Given the description of an element on the screen output the (x, y) to click on. 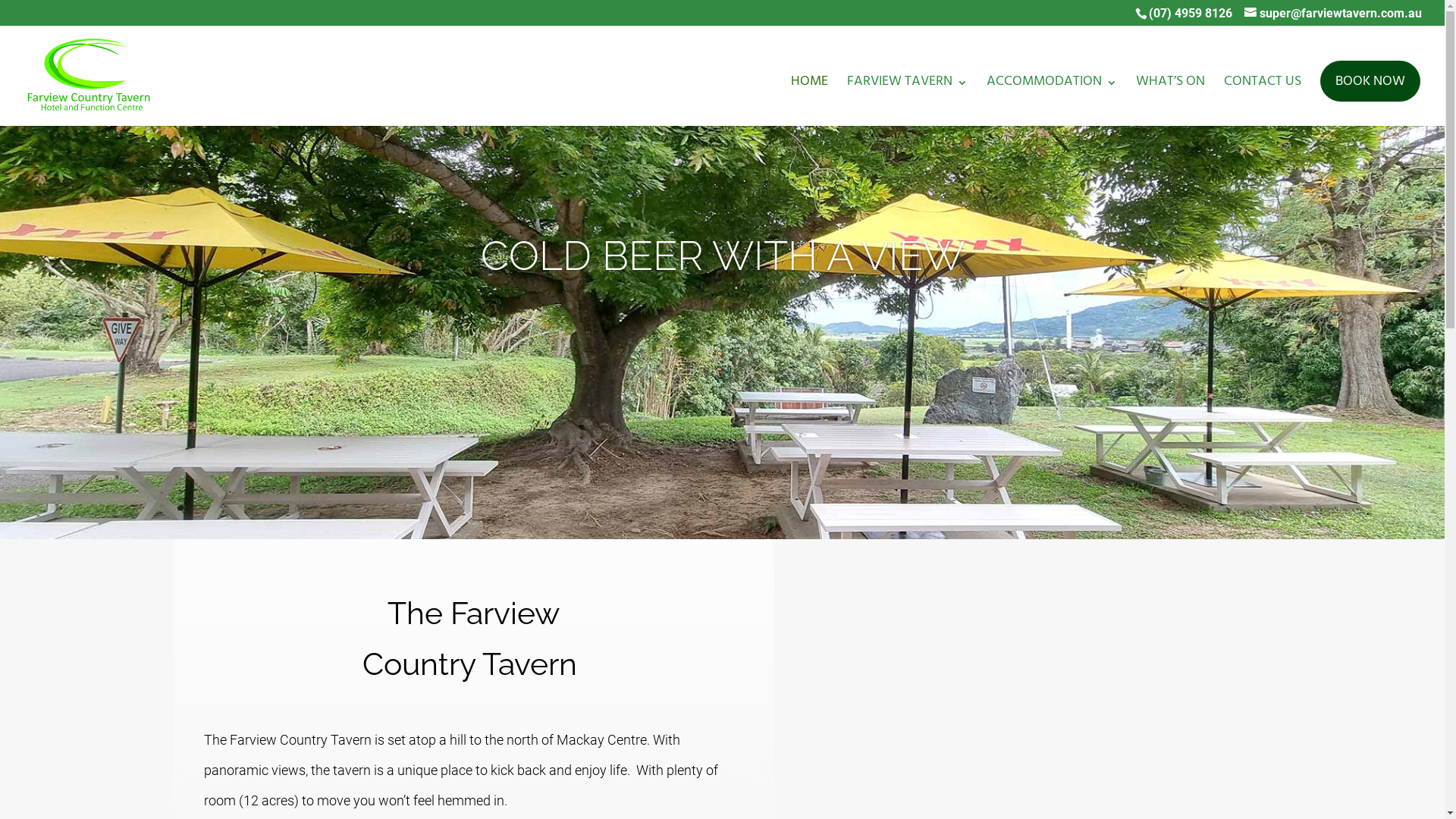
ACCOMMODATION Element type: text (1051, 101)
BOOK NOW Element type: text (1370, 80)
HOME Element type: text (809, 101)
FARVIEW TAVERN Element type: text (907, 101)
super@farviewtavern.com.au Element type: text (1332, 14)
COLD BEER WITH A VIEW Element type: text (722, 255)
CONTACT US Element type: text (1262, 101)
(07) 4959 8126 Element type: text (1190, 13)
